Given the description of an element on the screen output the (x, y) to click on. 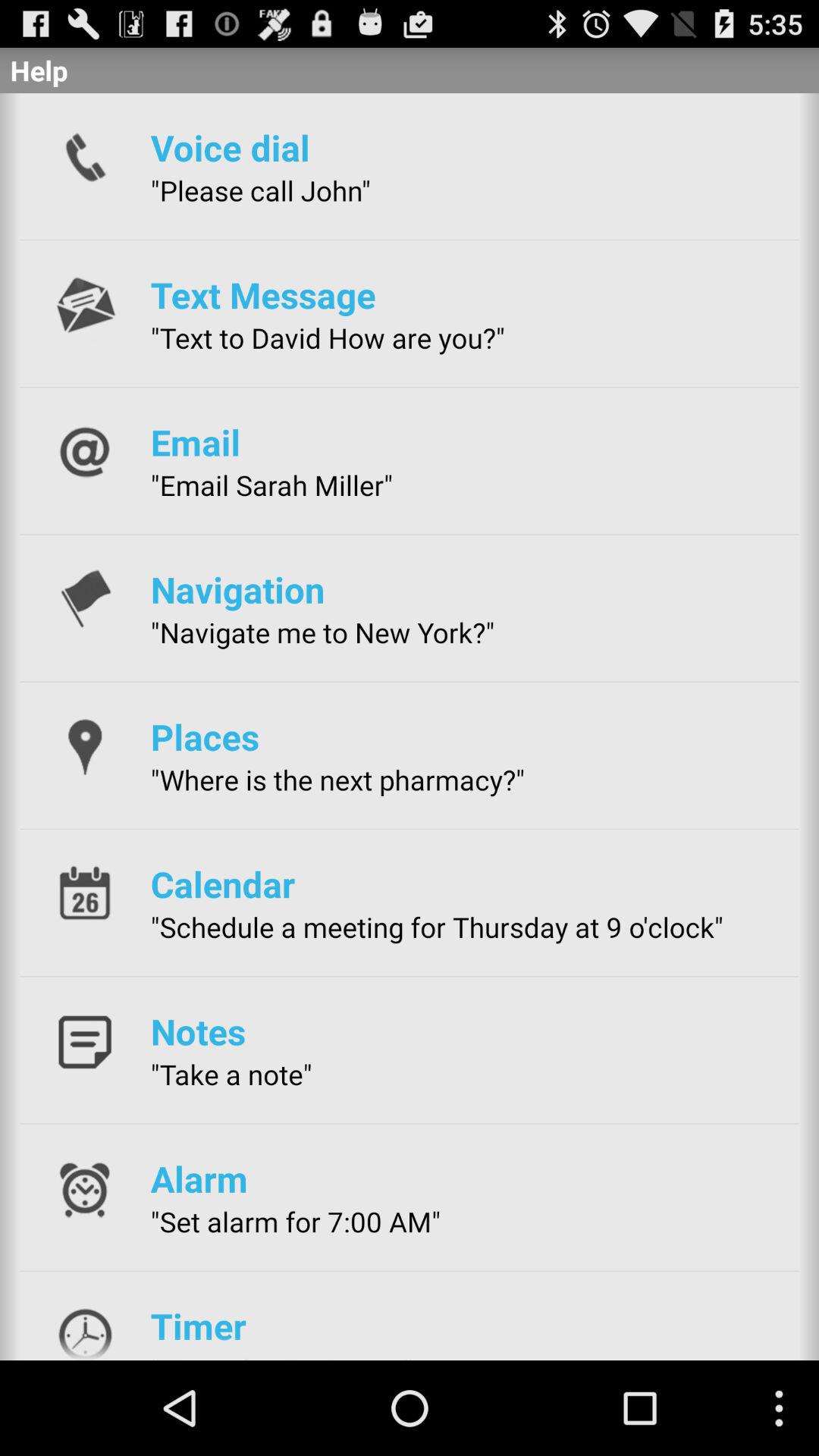
launch the "please call john" item (260, 190)
